Given the description of an element on the screen output the (x, y) to click on. 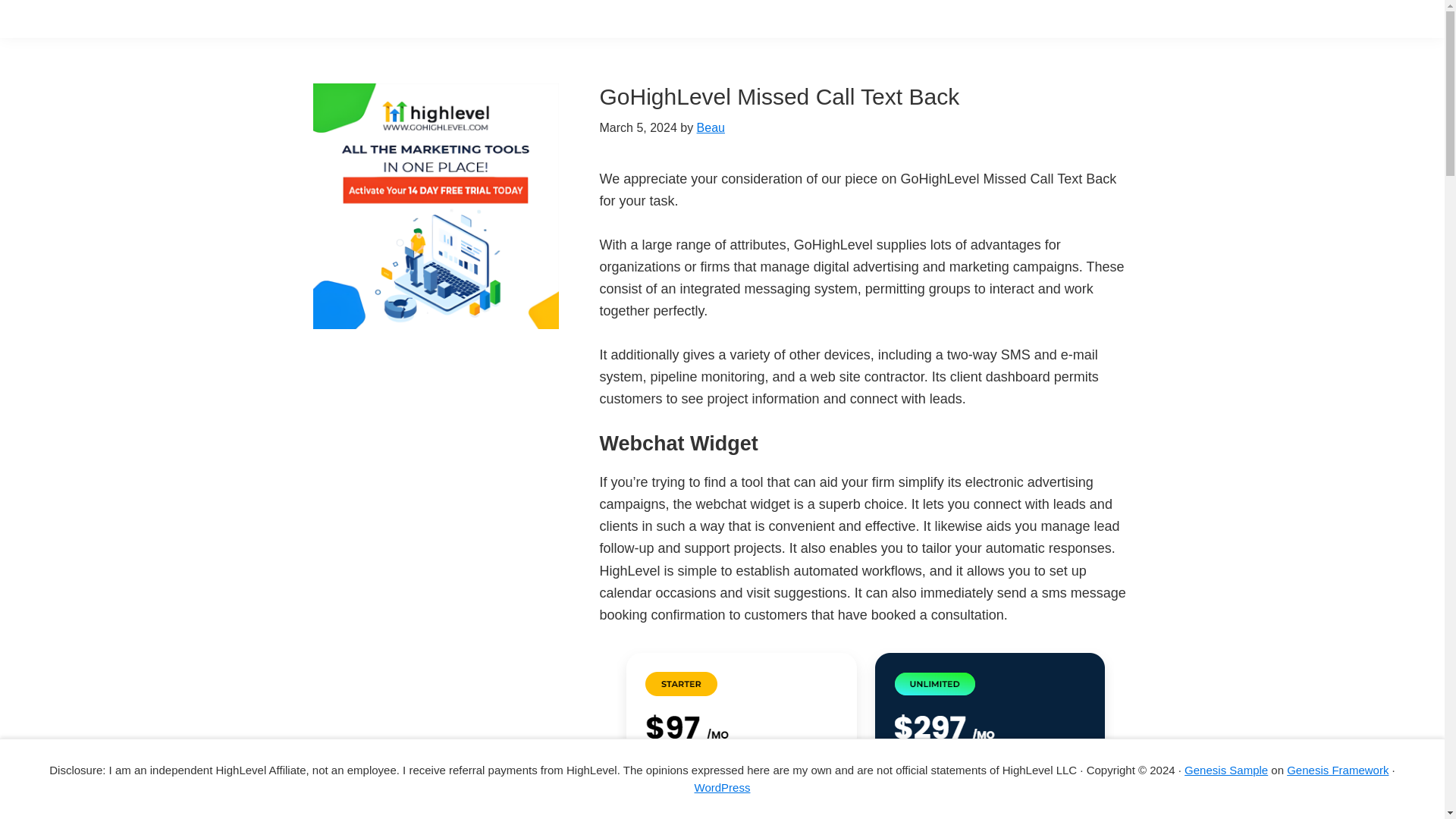
Beau (711, 127)
Genesis Sample (1226, 769)
WordPress (722, 787)
Genesis Framework (1338, 769)
